Given the description of an element on the screen output the (x, y) to click on. 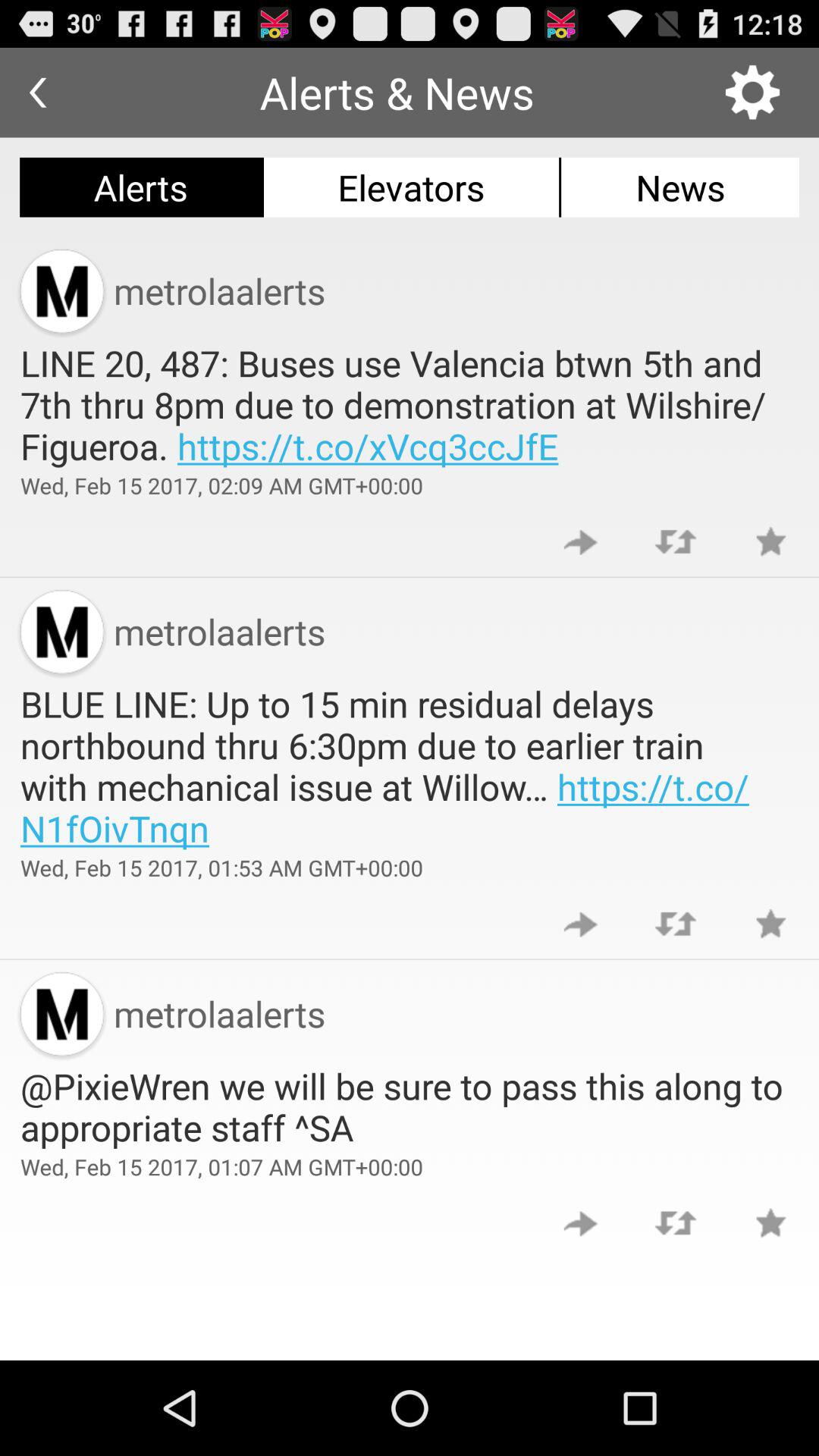
turn off the app next to the alerts & news item (37, 92)
